Given the description of an element on the screen output the (x, y) to click on. 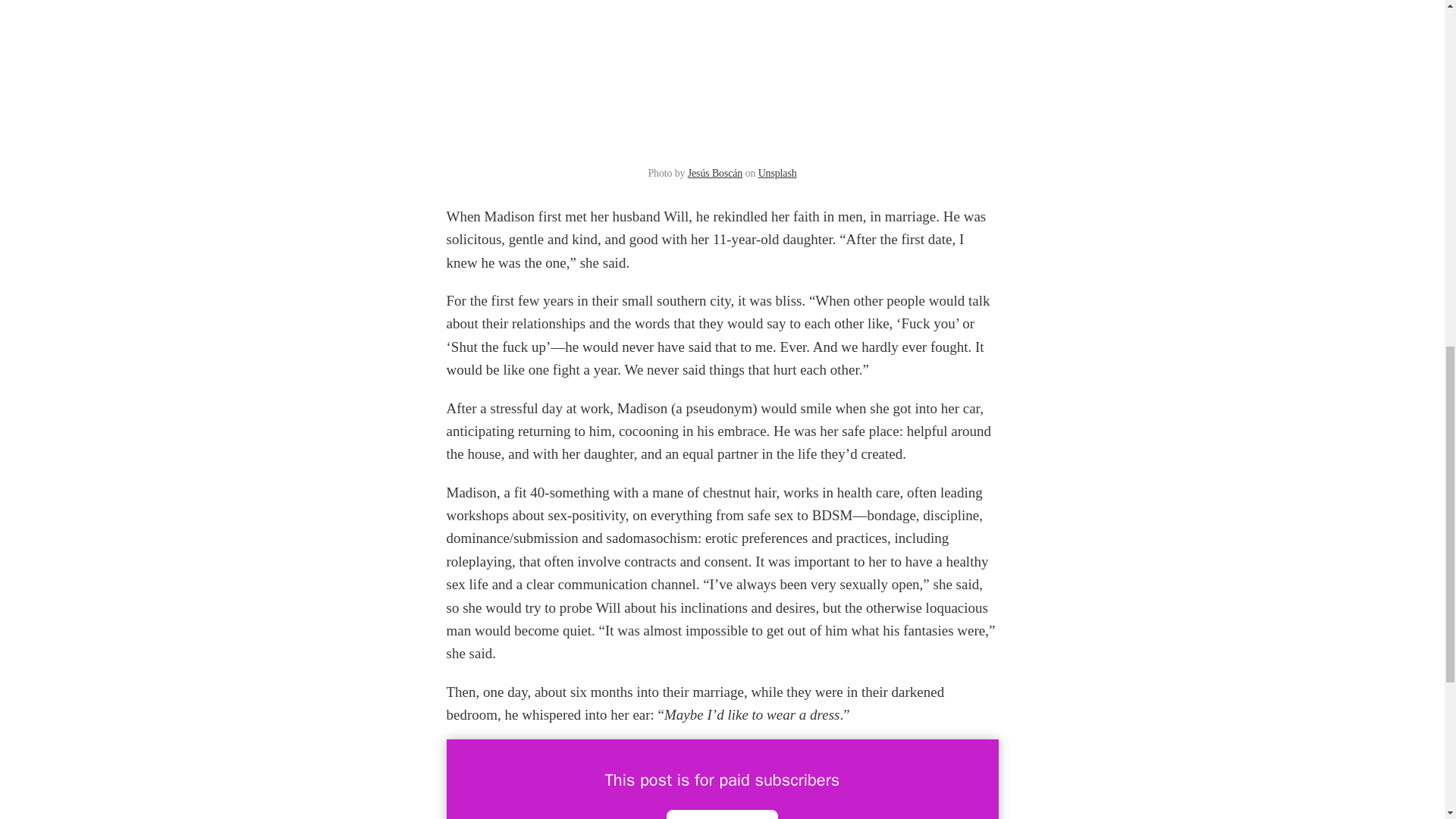
a close up of a woman with a pen in her mouth (722, 79)
Unsplash (777, 173)
Subscribe (721, 814)
